Given the description of an element on the screen output the (x, y) to click on. 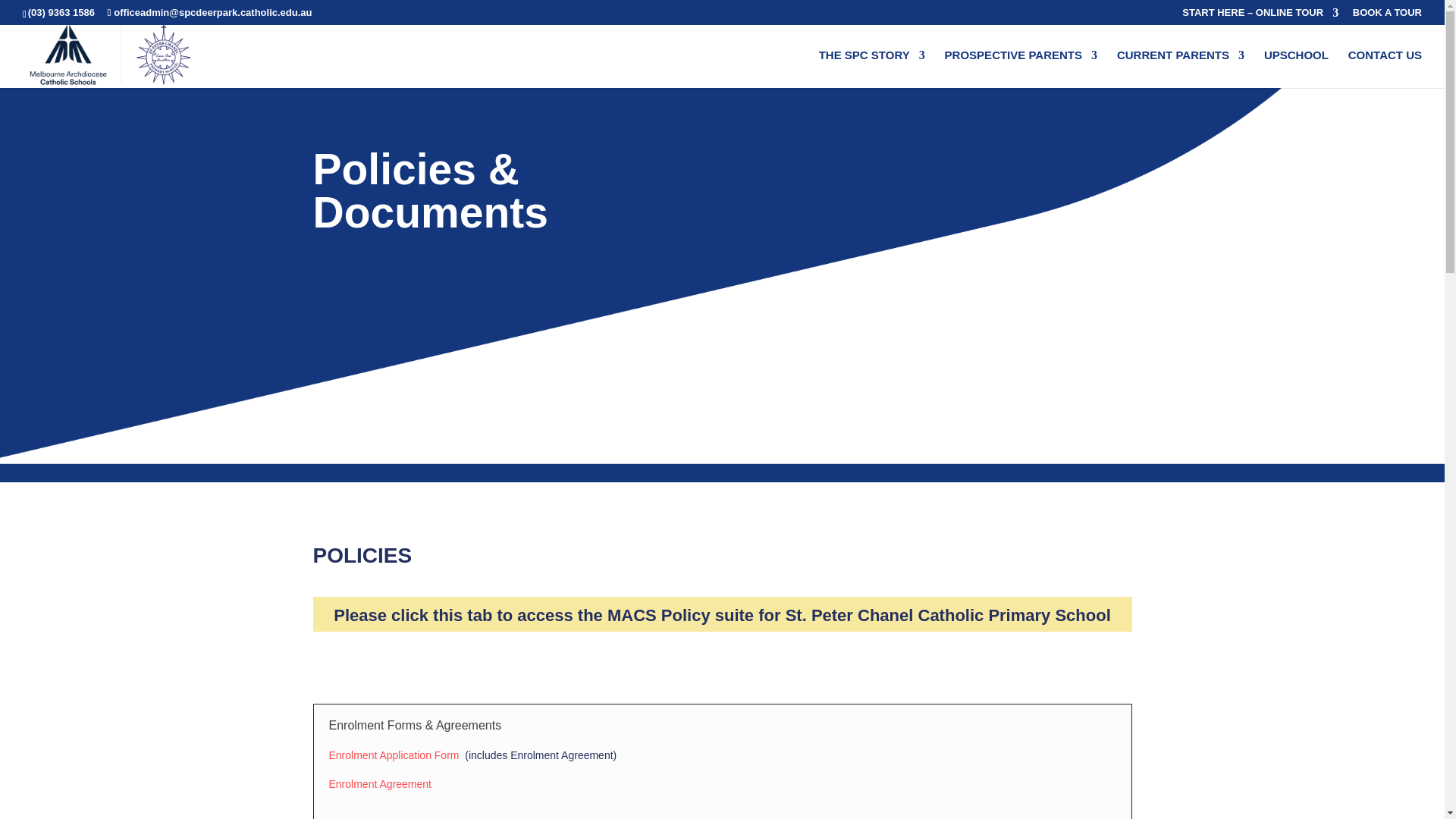
THE SPC STORY (871, 68)
BOOK A TOUR (1387, 16)
PROSPECTIVE PARENTS (1020, 68)
